Given the description of an element on the screen output the (x, y) to click on. 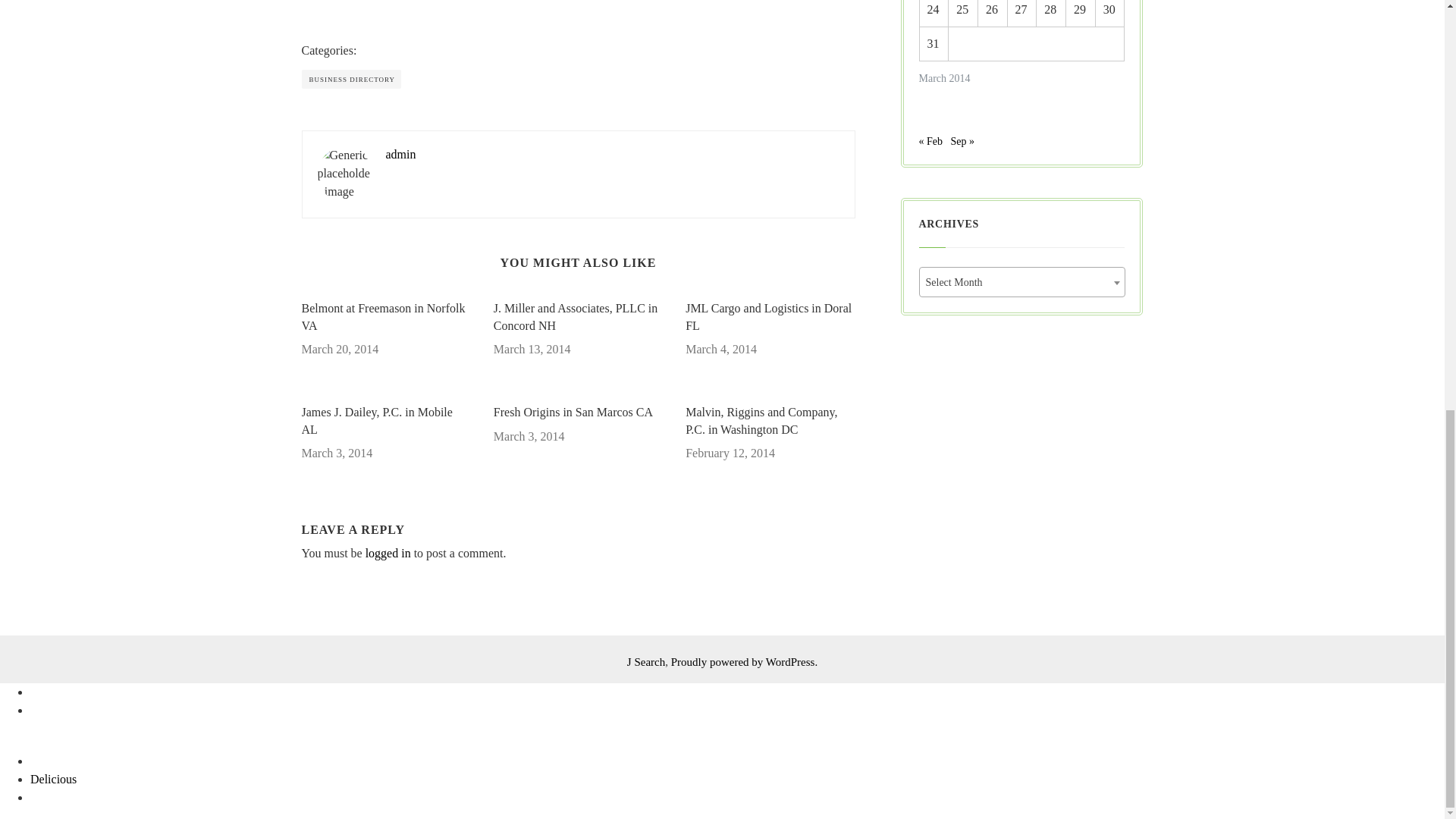
logged in (387, 553)
J. Miller and Associates, PLLC in Concord NH (577, 317)
Delicious (53, 779)
Belmont at Freemason in Norfolk VA (385, 317)
JML Cargo and Logistics in Doral FL (769, 317)
Proudly powered by WordPress. (744, 662)
James J. Dailey, P.C. in Mobile AL (385, 421)
Malvin, Riggins and Company, P.C. in Washington DC (769, 421)
Fresh Origins in San Marcos CA (577, 412)
BUSINESS DIRECTORY (351, 79)
Select Month (1021, 282)
J Search (646, 662)
admin (399, 154)
